Given the description of an element on the screen output the (x, y) to click on. 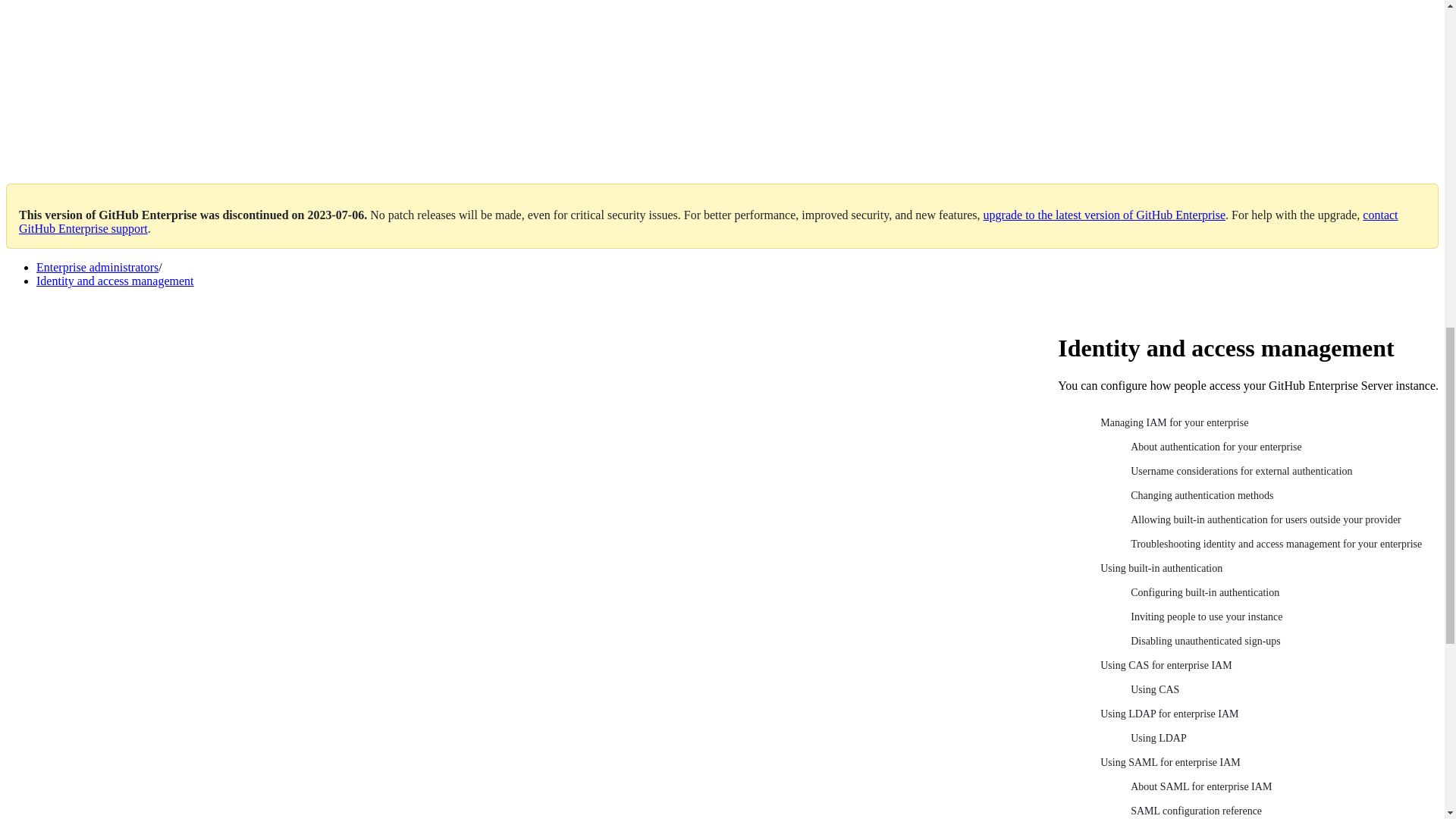
About authentication for your enterprise (1278, 446)
Changing authentication methods (1278, 495)
Using SAML for enterprise IAM (1263, 762)
About SAML for enterprise IAM (1278, 786)
Using LDAP for enterprise IAM (1263, 713)
contact GitHub Enterprise support (707, 221)
Configuring built-in authentication (1278, 592)
Identity and access management (114, 280)
upgrade to the latest version of GitHub Enterprise (1104, 214)
Inviting people to use your instance (1278, 617)
SAML configuration reference (1278, 809)
Identity and access management (114, 280)
Enterprise administrators (97, 267)
